Given the description of an element on the screen output the (x, y) to click on. 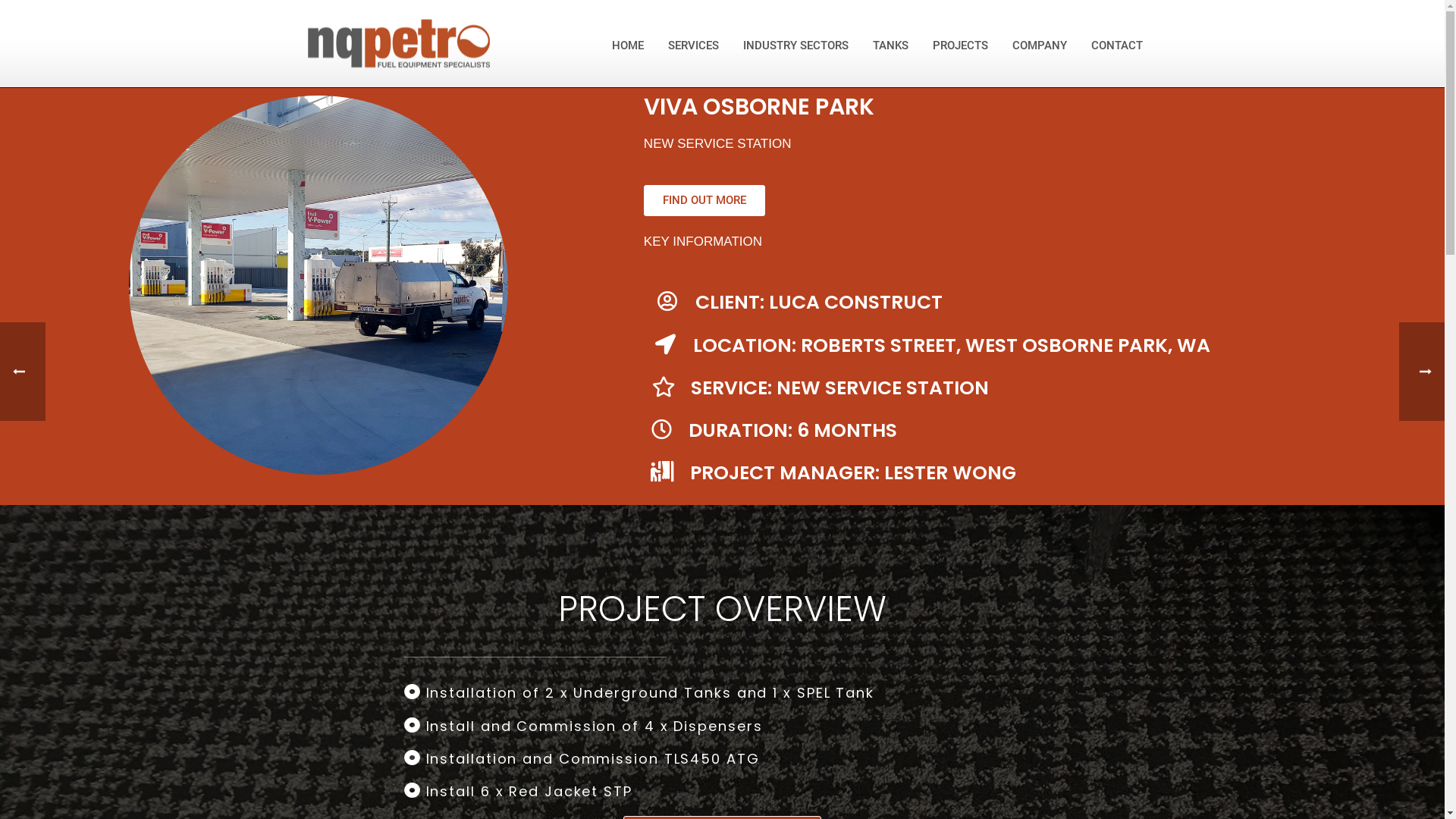
HOME Element type: text (627, 43)
PROJECTS Element type: text (960, 43)
TANKS Element type: text (889, 43)
COMPANY Element type: text (1038, 43)
SERVICES Element type: text (692, 43)
INDUSTRY SECTORS Element type: text (795, 43)
CONTACT Element type: text (1116, 43)
FIND OUT MORE Element type: text (704, 200)
